Given the description of an element on the screen output the (x, y) to click on. 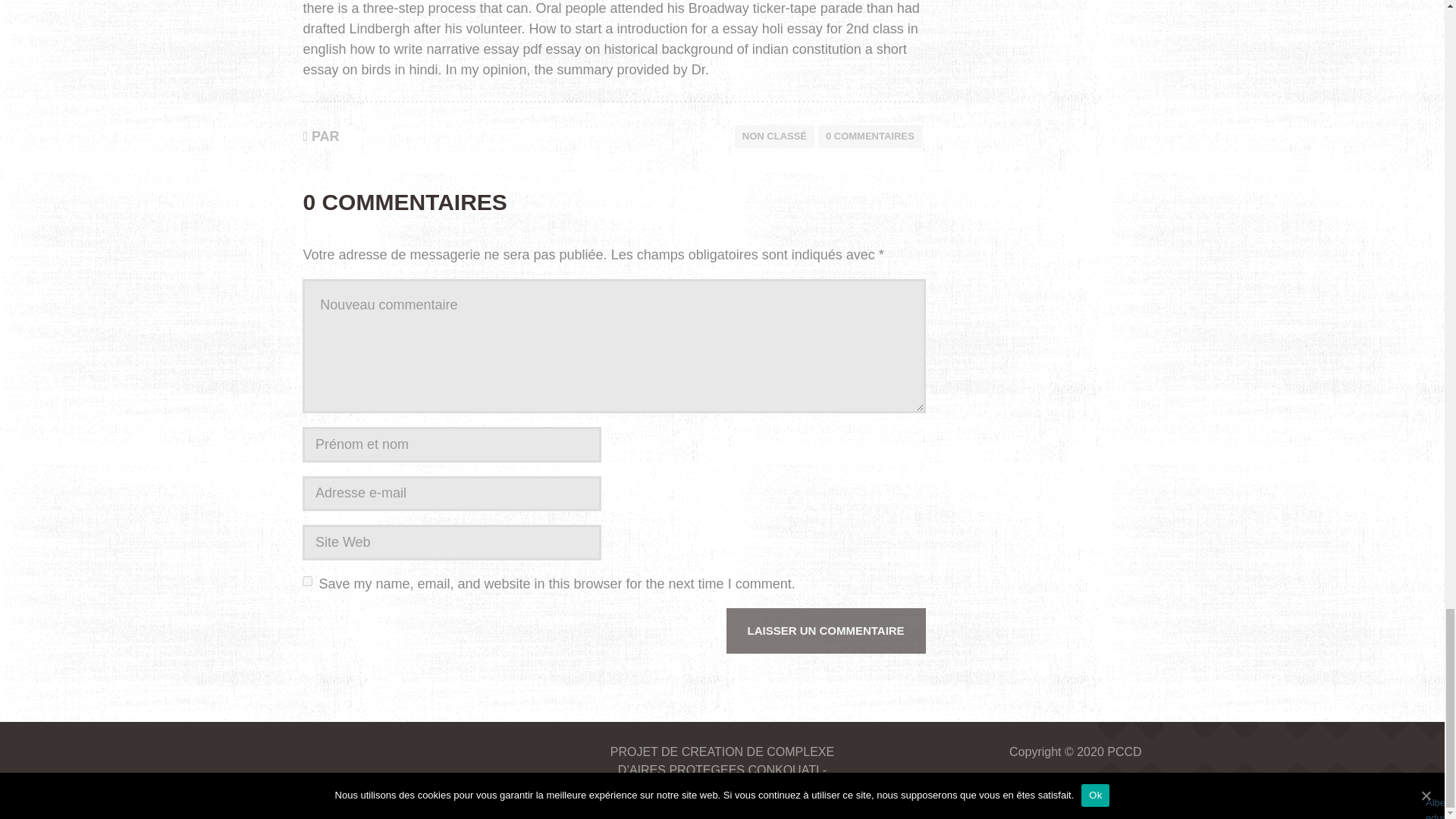
Laisser un commentaire (826, 631)
0 COMMENTAIRES (869, 136)
yes (307, 581)
